Given the description of an element on the screen output the (x, y) to click on. 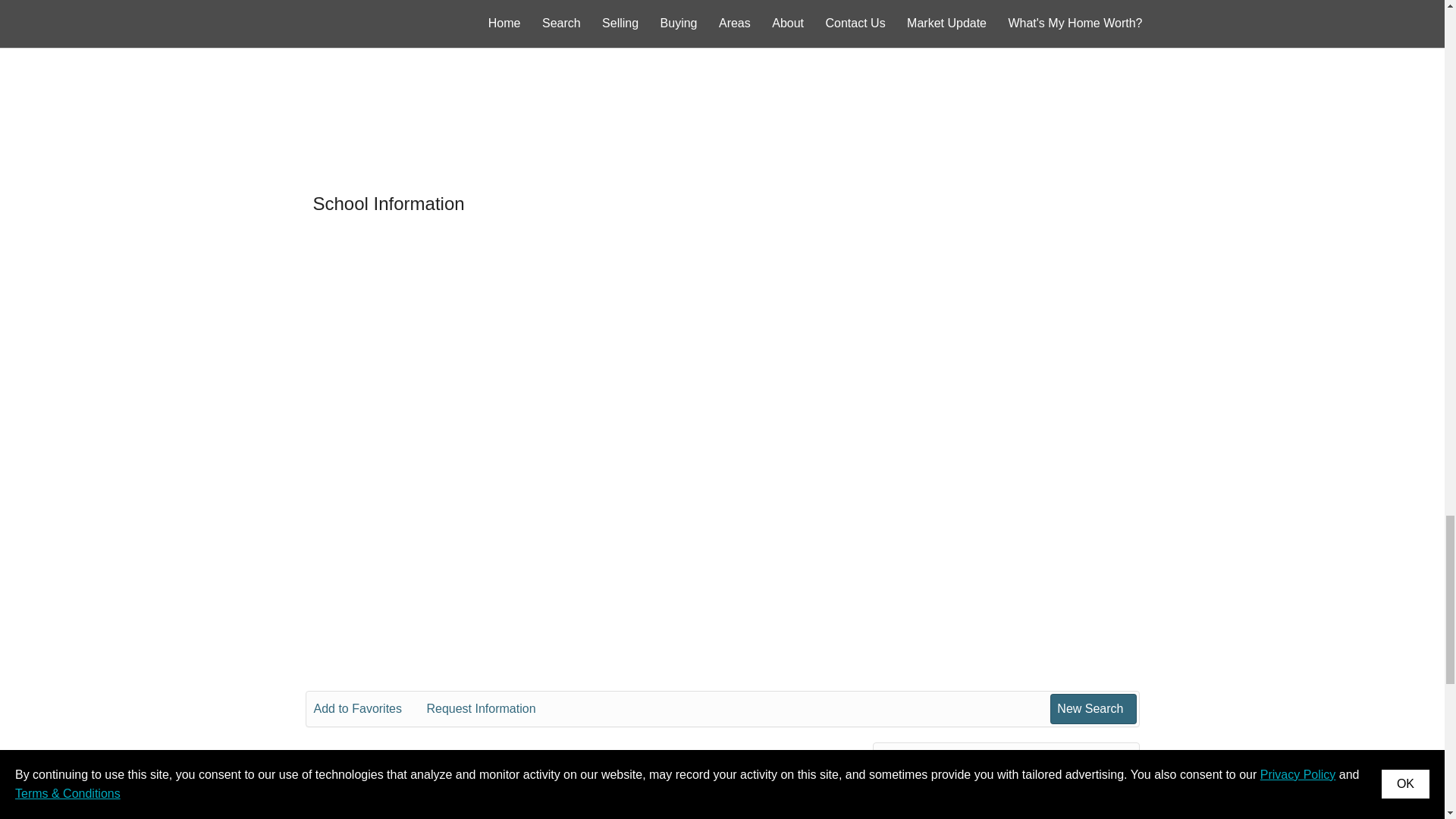
2549000 (1068, 793)
6 (1037, 815)
Walk Score (722, 80)
